Given the description of an element on the screen output the (x, y) to click on. 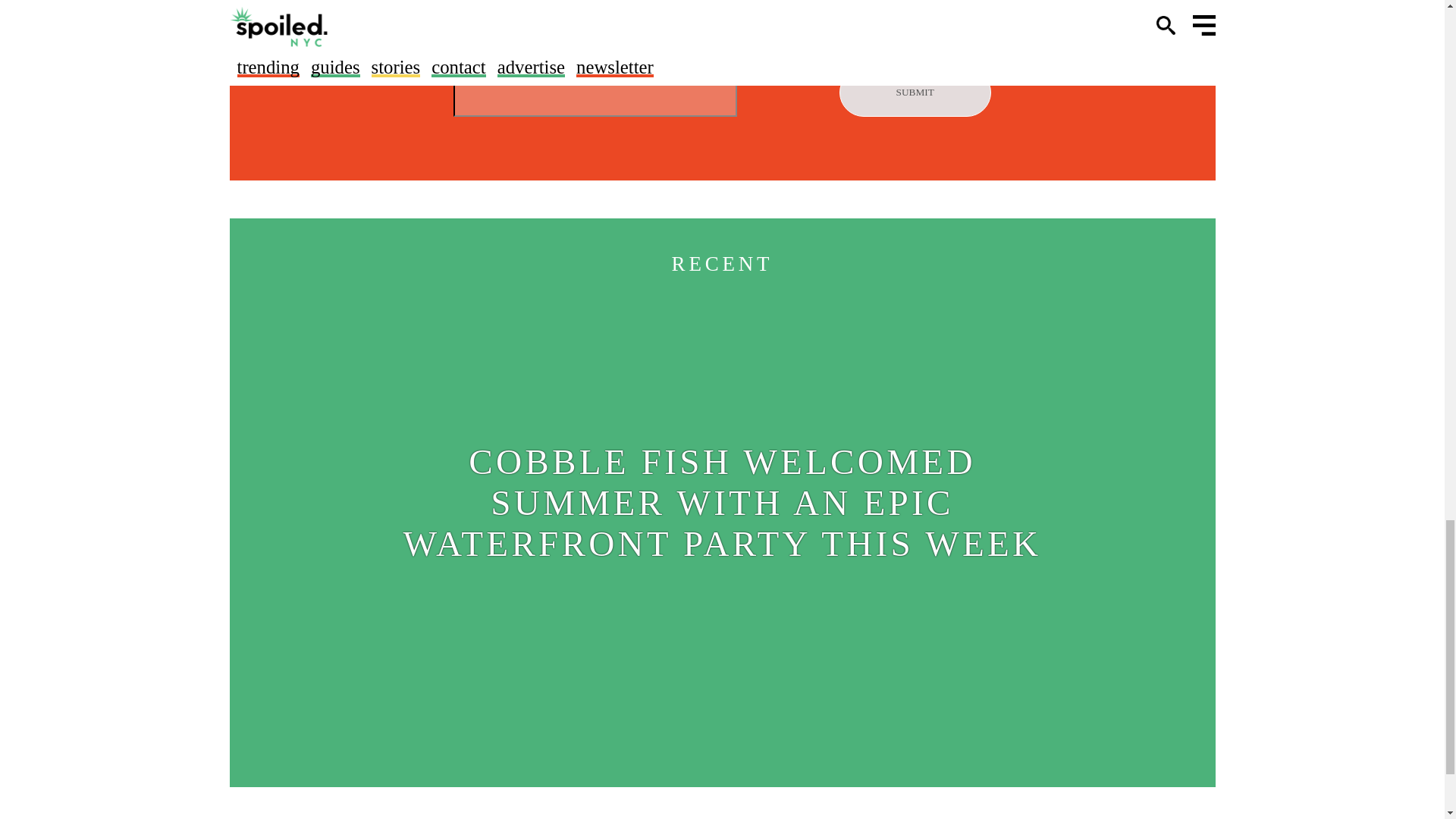
SUBMIT (915, 92)
